Given the description of an element on the screen output the (x, y) to click on. 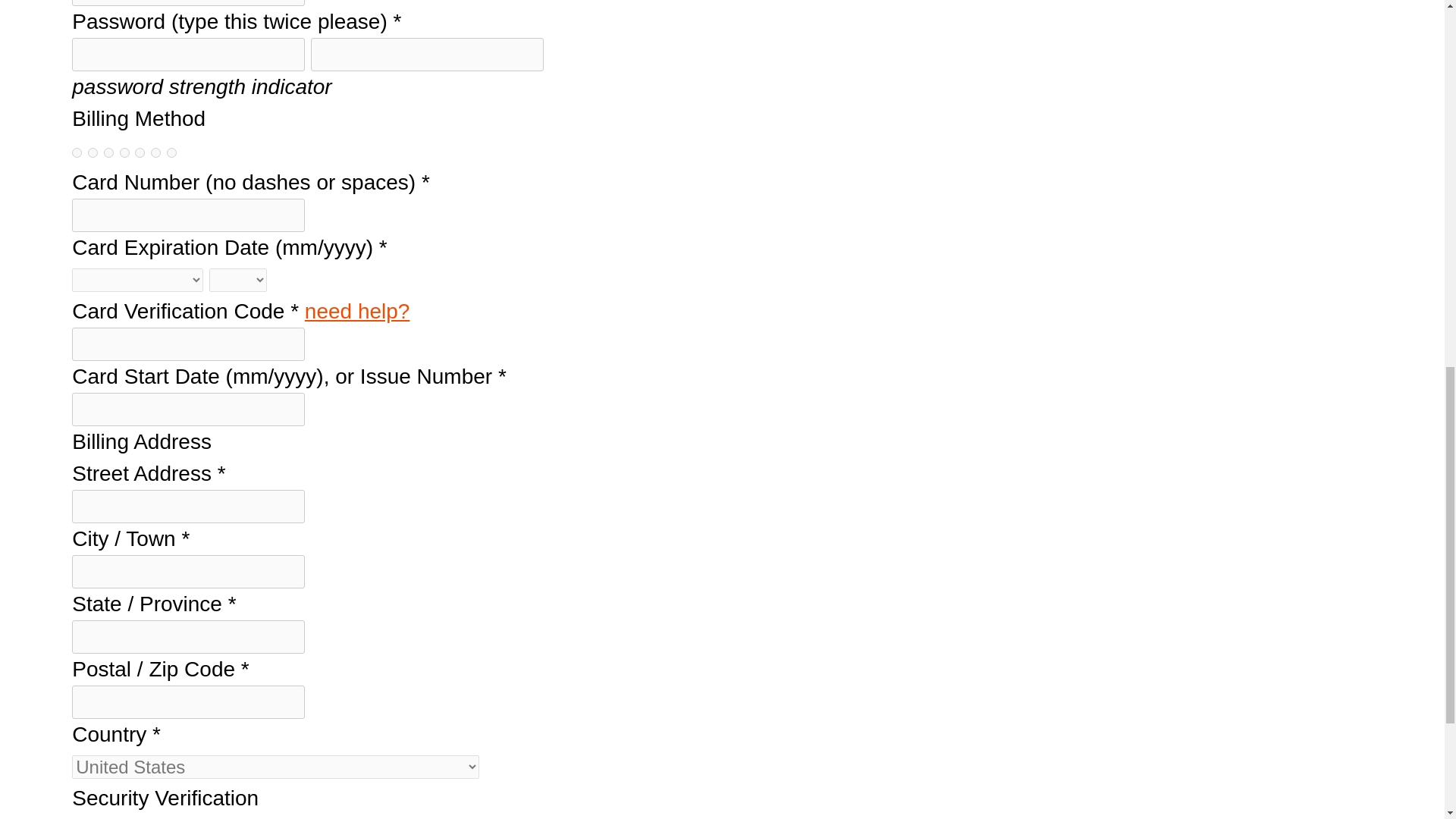
MasterCard (108, 153)
PayPal (76, 153)
need help? (357, 310)
Maestro (155, 153)
Discover (124, 153)
Amex (139, 153)
Visa (92, 153)
Solo (171, 153)
